Given the description of an element on the screen output the (x, y) to click on. 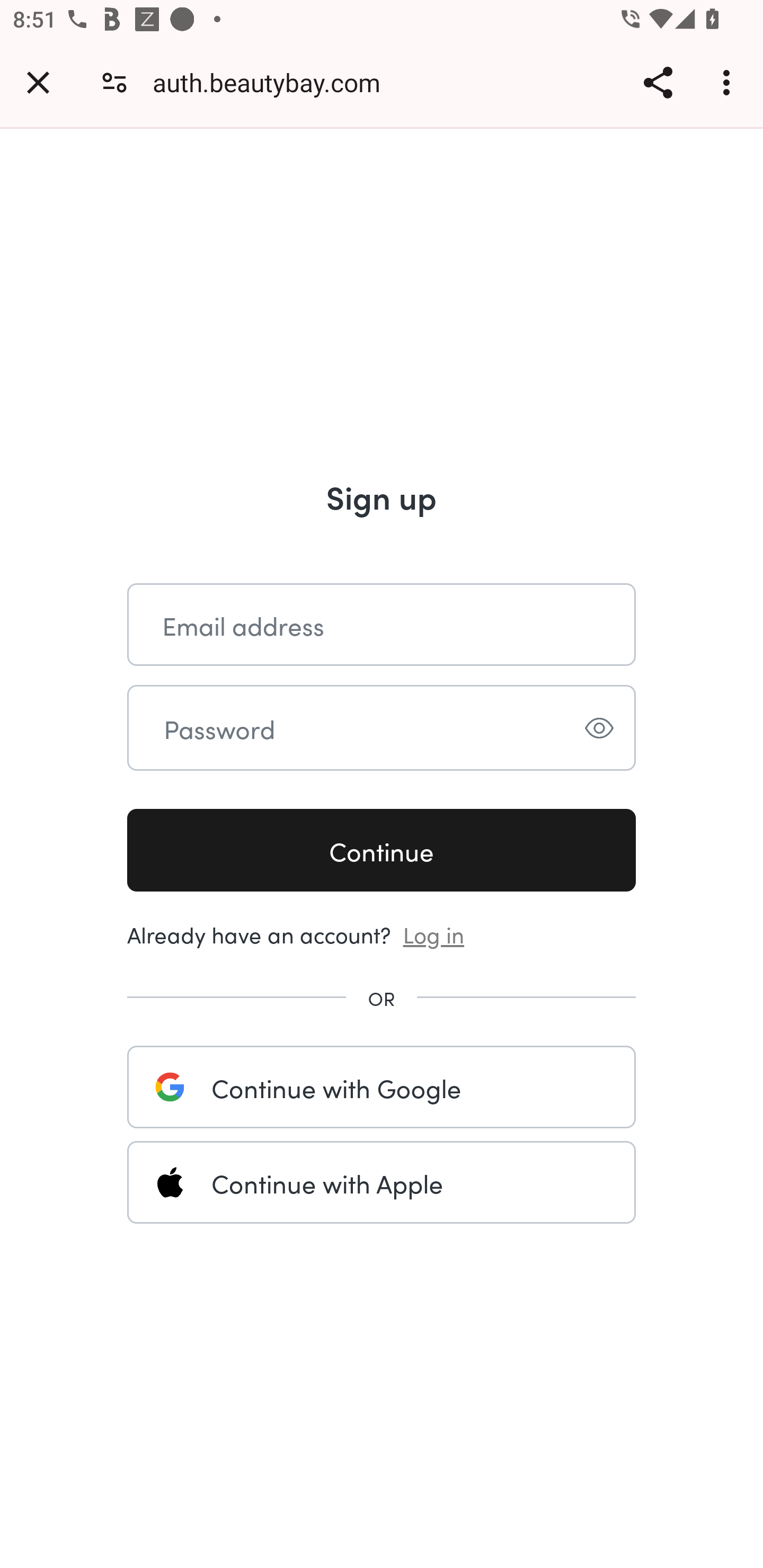
Close tab (38, 82)
Share (657, 82)
Customize and control Google Chrome (729, 82)
Connection is secure (114, 81)
auth.beautybay.com (272, 81)
Show password (599, 727)
Continue (381, 850)
Log in (433, 933)
Continue with Google (381, 1086)
Continue with Apple (381, 1182)
